Given the description of an element on the screen output the (x, y) to click on. 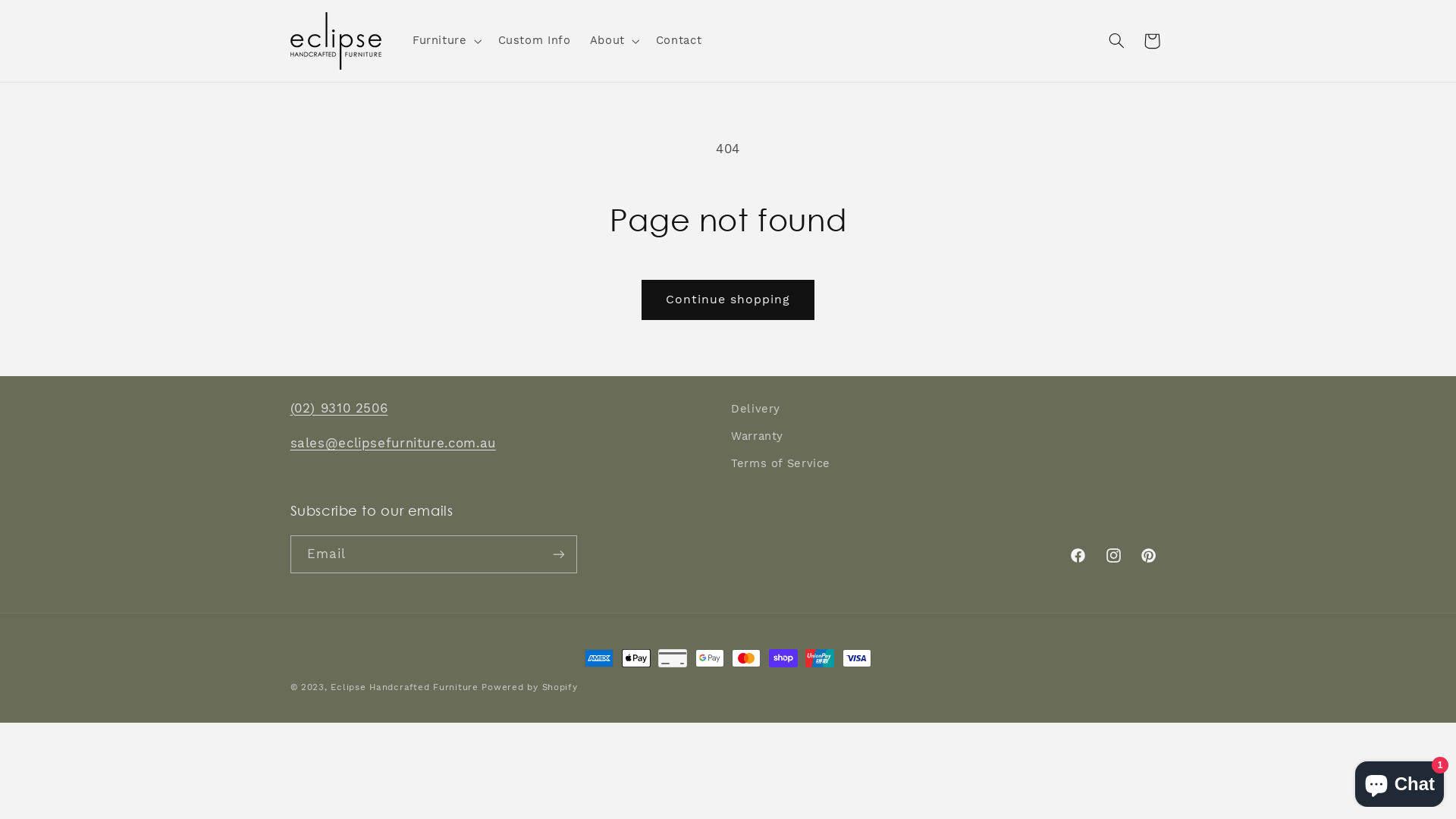
Pinterest Element type: text (1147, 554)
Eclipse Handcrafted Furniture Element type: text (403, 686)
Warranty Element type: text (757, 436)
Contact Element type: text (678, 40)
Terms of Service Element type: text (780, 463)
Instagram Element type: text (1112, 554)
Facebook Element type: text (1077, 554)
(02) 9310 2506 Element type: text (338, 407)
sales@eclipsefurniture.com.au Element type: text (392, 442)
Continue shopping Element type: text (727, 299)
Cart Element type: text (1151, 40)
Shopify online store chat Element type: hover (1399, 780)
Custom Info Element type: text (534, 40)
Powered by Shopify Element type: text (529, 686)
Delivery Element type: text (755, 411)
